Given the description of an element on the screen output the (x, y) to click on. 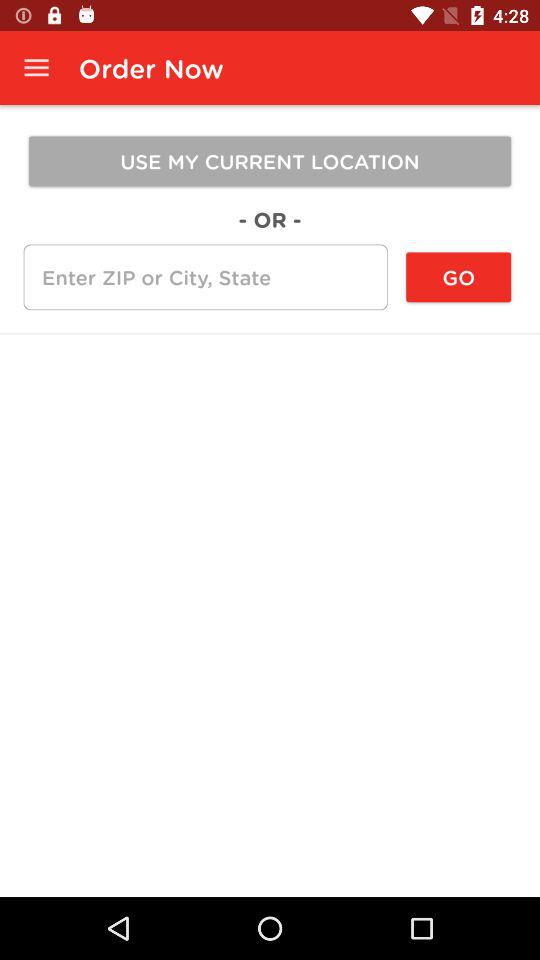
press app next to order now item (36, 68)
